Given the description of an element on the screen output the (x, y) to click on. 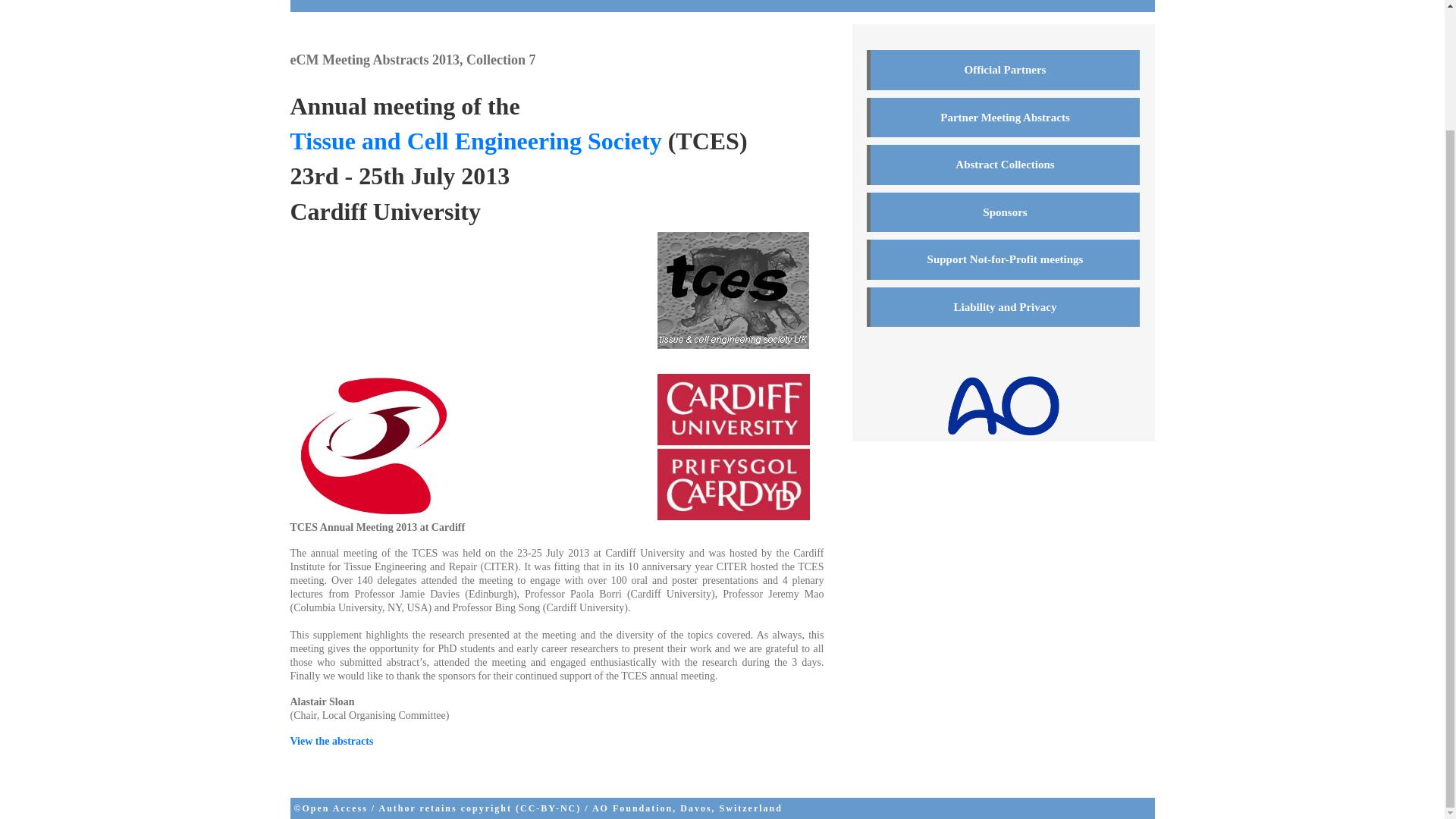
Home (428, 2)
View the abstracts (330, 740)
All Abstracts (746, 2)
Partner Meeting Abstracts (1002, 117)
ARI Abstracts (347, 2)
Abstract Collections (1002, 164)
Past Meetings (655, 2)
More info (823, 2)
Support Not-for-Profit meetings (1002, 259)
Liability and Privacy (1002, 306)
Contact (887, 2)
Official Partners (1002, 69)
Sponsors (1002, 212)
Tissue and Cell Engineering Society (475, 140)
ARI Orthopaedics Meeting (527, 2)
